Given the description of an element on the screen output the (x, y) to click on. 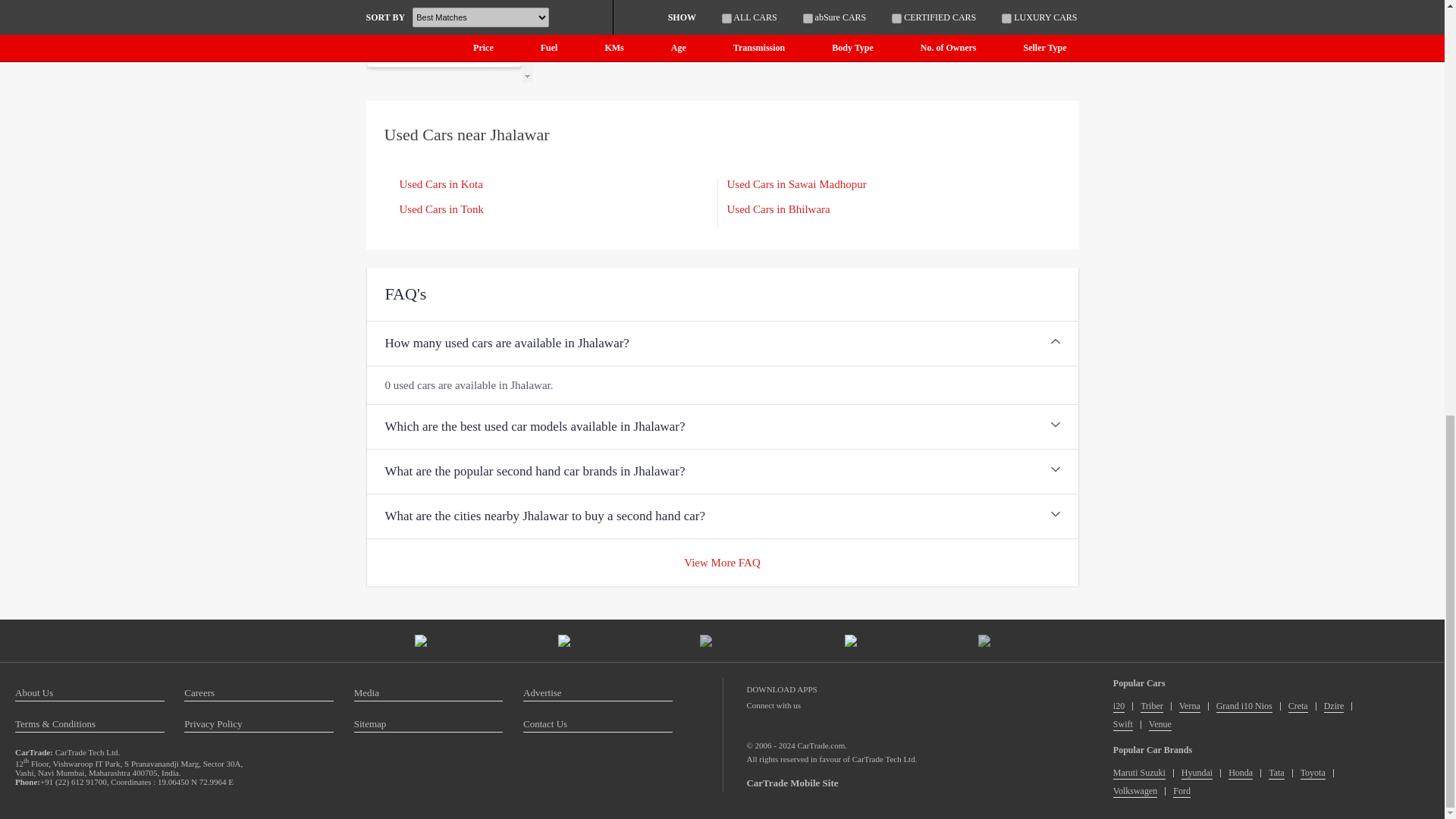
Used Cars in Kota (439, 184)
Used Cars in Bhilwara (777, 209)
Used Cars in Tonk (440, 209)
Used Cars in Sawai Madhopur (796, 184)
2 (485, 46)
